Given the description of an element on the screen output the (x, y) to click on. 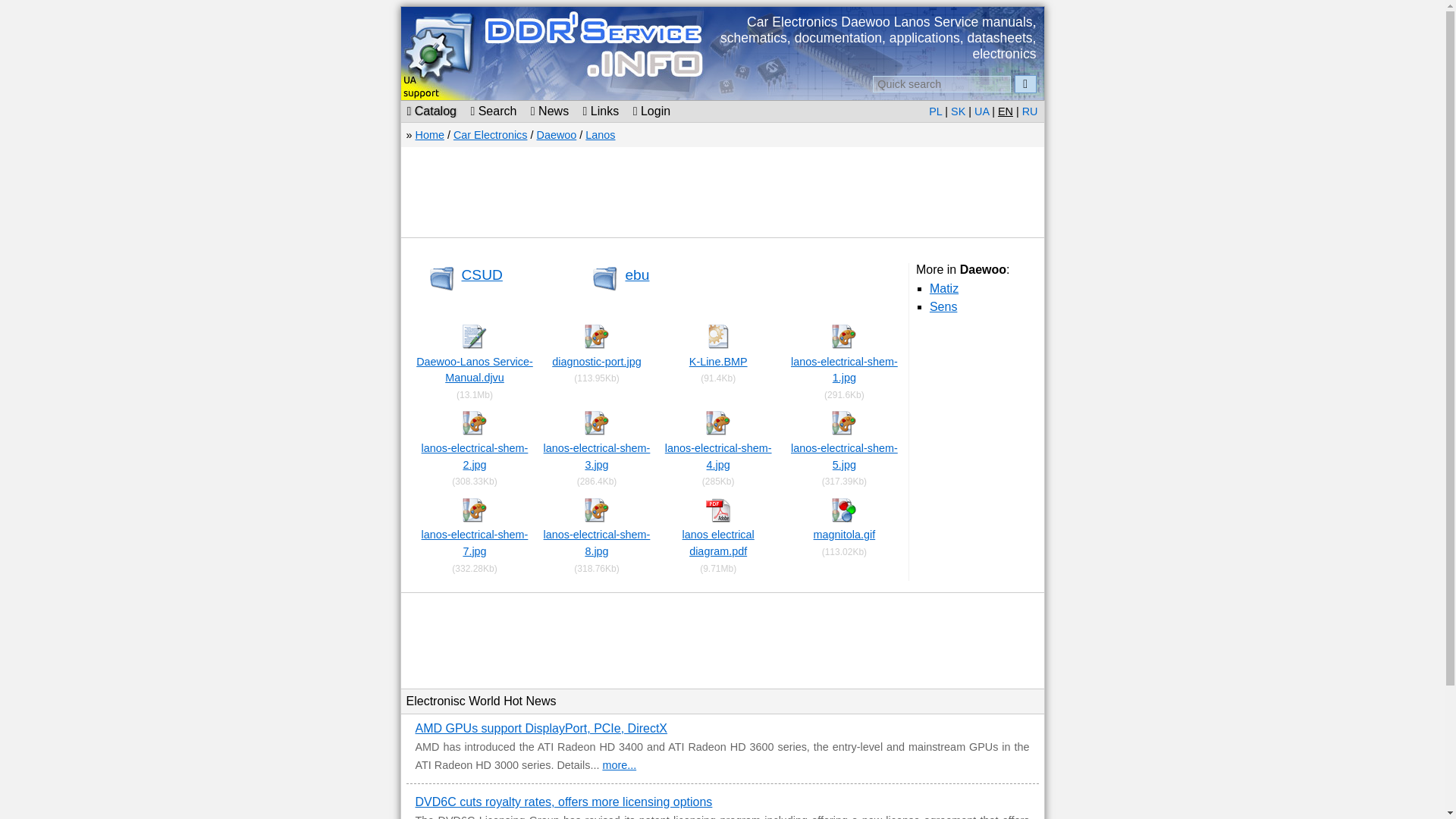
Home (429, 134)
Download K-Line.BMP (718, 361)
lanos-electrical-shem-4.jpg (718, 456)
RU (1030, 111)
Download lanos-electrical-shem-1.jpg (844, 369)
Daewoo (555, 134)
Download lanos-electrical-shem-3.jpg (596, 456)
CSUD (481, 274)
Download lanos-electrical-shem-3.jpg (595, 431)
K-Line.BMP (718, 361)
ebu (636, 274)
Car Electronics (489, 134)
SK (957, 111)
lanos-electrical-shem-1.jpg (844, 369)
lanos-electrical-shem-7.jpg (475, 542)
